Given the description of an element on the screen output the (x, y) to click on. 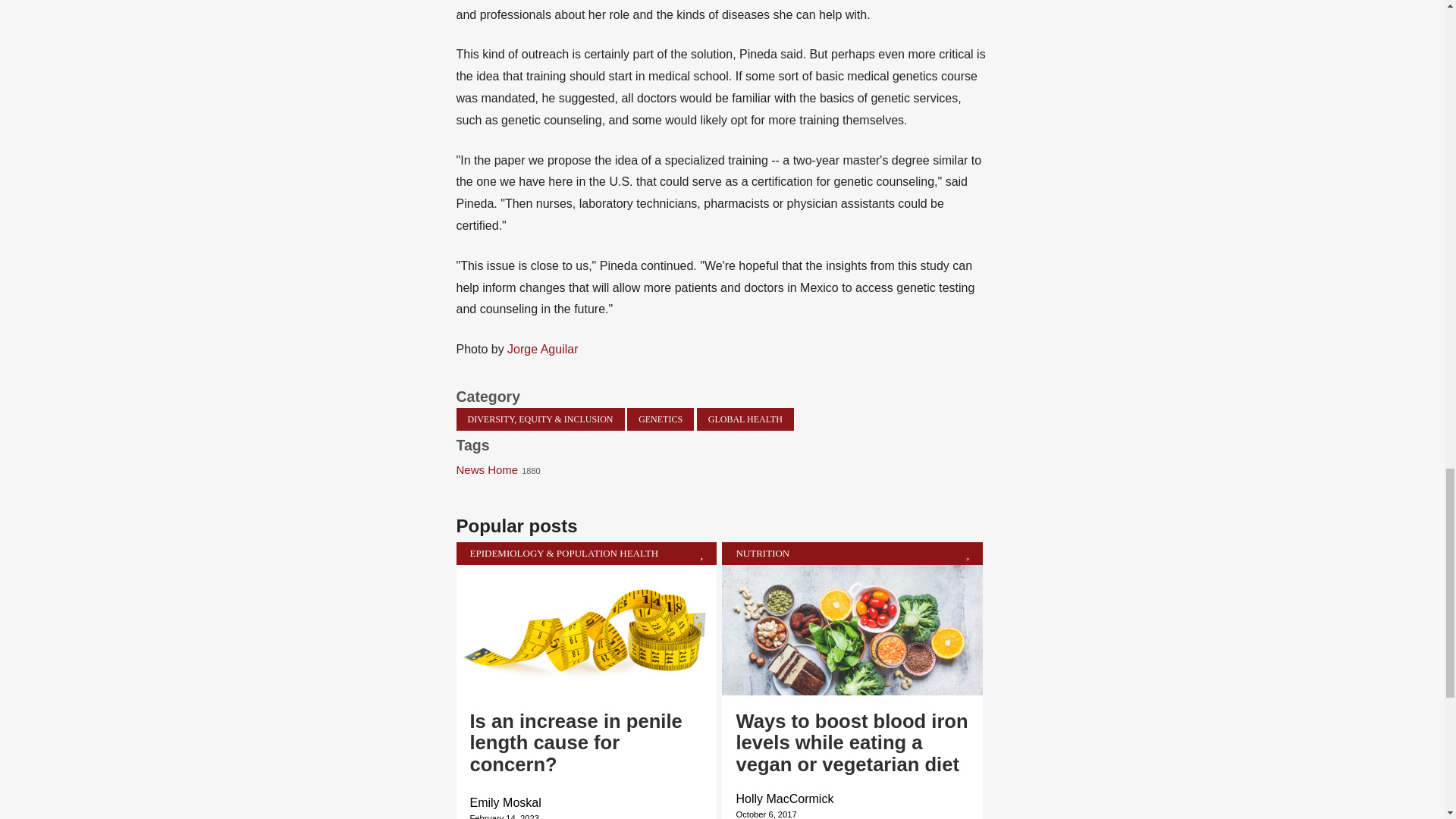
Holly MacCormick (783, 798)
News Home1880 (504, 469)
GENETICS (660, 418)
Jorge Aguilar (542, 349)
Is an increase in penile length cause for concern? (576, 741)
GLOBAL HEALTH (745, 418)
Emily Moskal (505, 802)
